Given the description of an element on the screen output the (x, y) to click on. 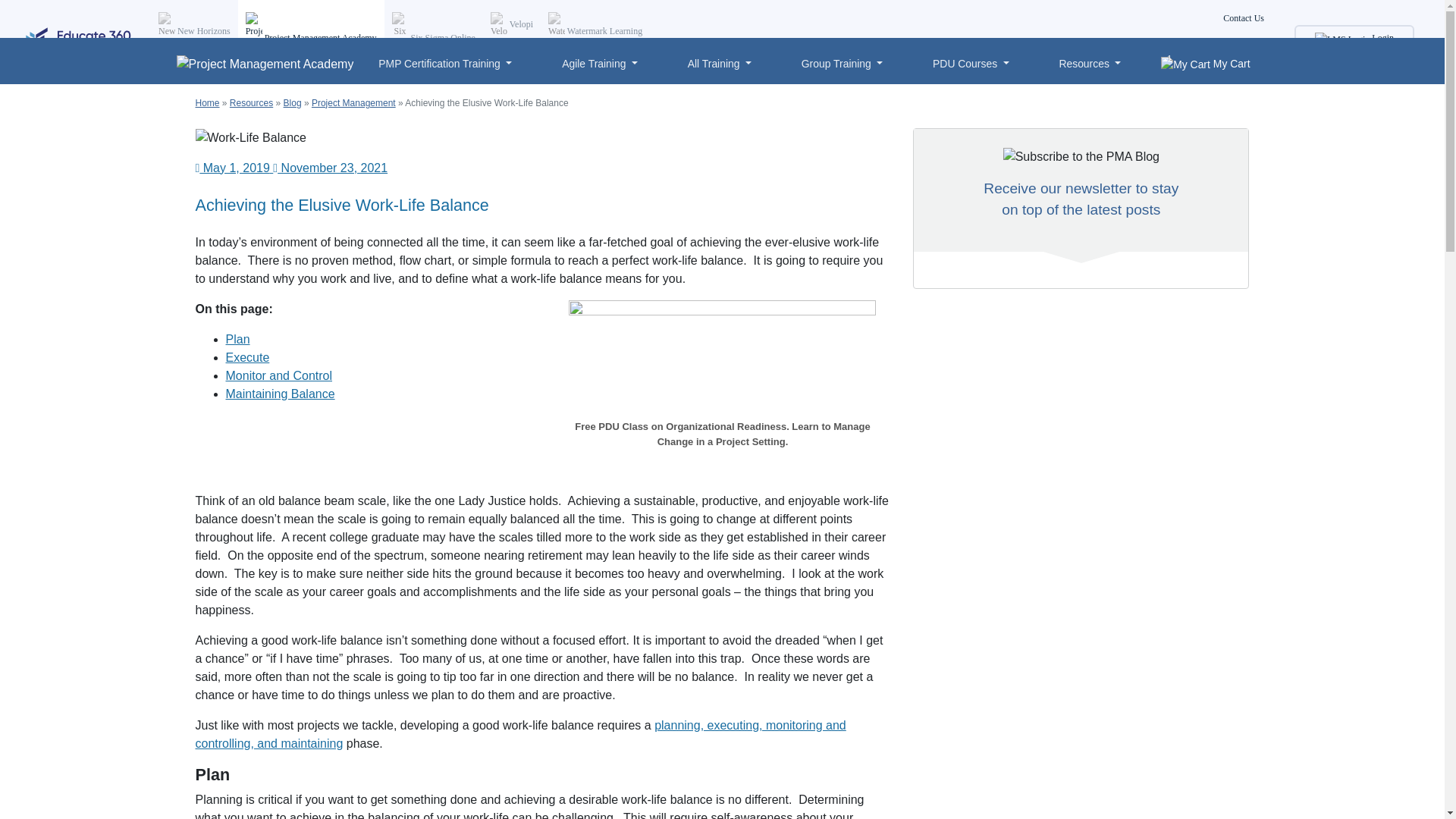
New Horizons (194, 31)
Project Management Academy (311, 38)
Six Sigma Online (433, 38)
Velopi (511, 24)
Watermark Learning (594, 31)
Login (1353, 38)
Agile Training (599, 63)
PMP Certification Training (445, 63)
Contact Us (1243, 38)
